Given the description of an element on the screen output the (x, y) to click on. 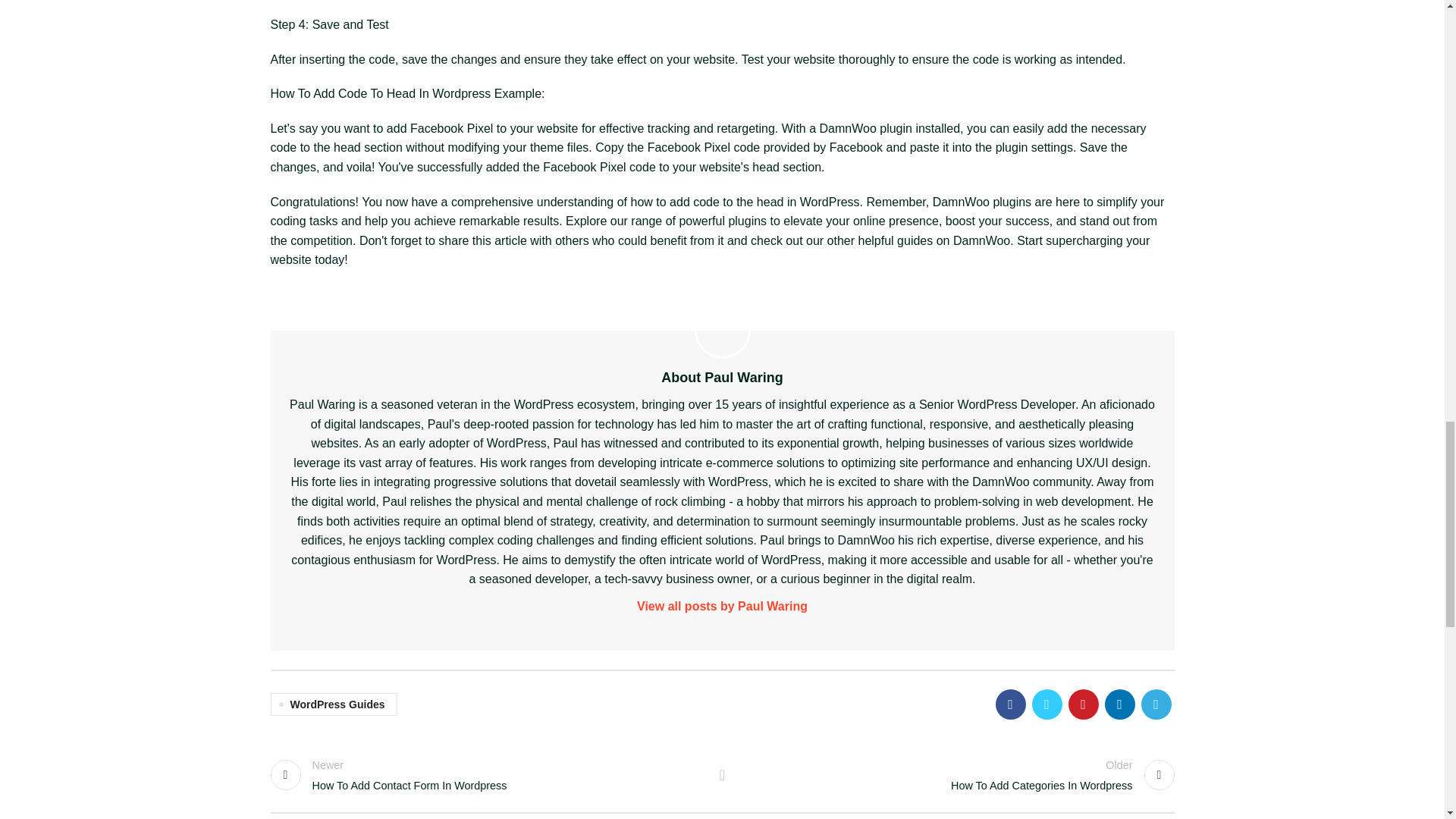
Back to list (955, 774)
WordPress Guides (721, 775)
View all posts by Paul Waring (488, 774)
